Given the description of an element on the screen output the (x, y) to click on. 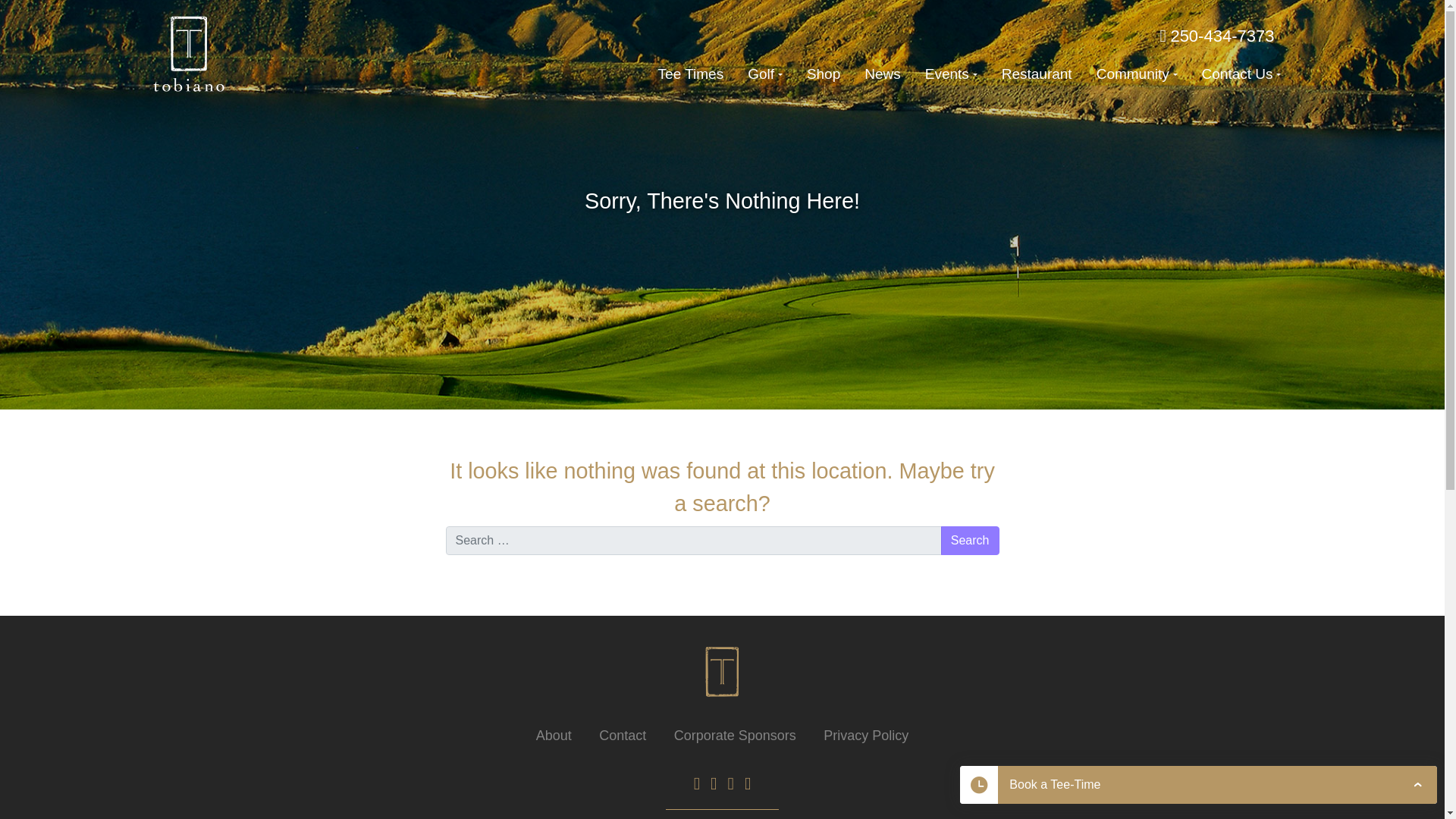
Shop (822, 71)
Golf (764, 71)
Events (951, 71)
Contact Us (1241, 71)
Restaurant (1037, 71)
250-434-7373 (1216, 35)
Tobiano Golf Course (189, 53)
Community (1136, 71)
Search (969, 540)
News (881, 71)
Search (969, 540)
Tee Times (691, 71)
